Given the description of an element on the screen output the (x, y) to click on. 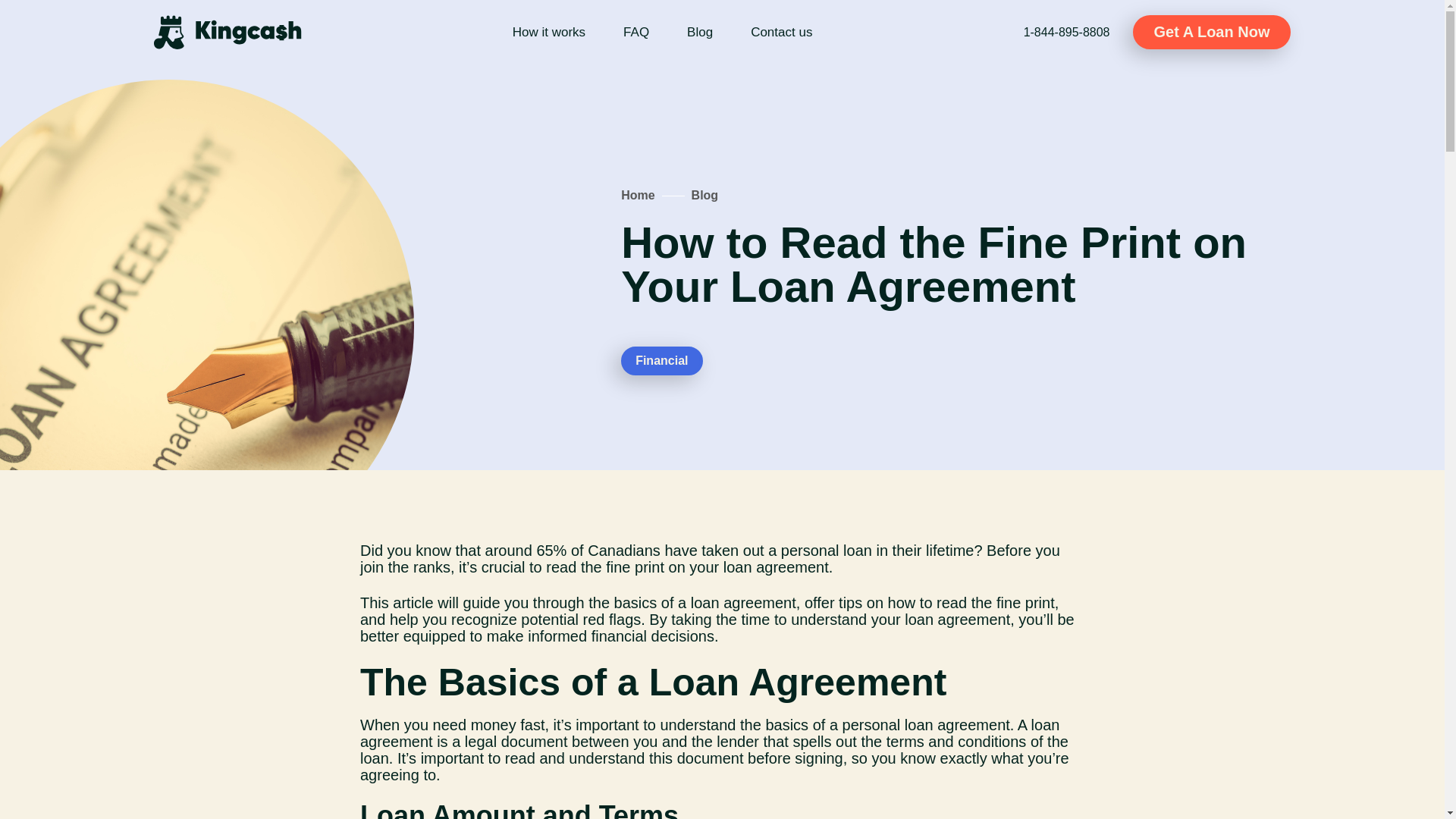
Home (637, 195)
need money fast (488, 724)
Financial (661, 360)
Home page (226, 32)
FAQ (636, 32)
Get A Loan Now (1211, 32)
Blog (705, 195)
1-844-895-8808 (1066, 31)
How it works (548, 32)
Contact us (781, 32)
Blog (700, 32)
